Given the description of an element on the screen output the (x, y) to click on. 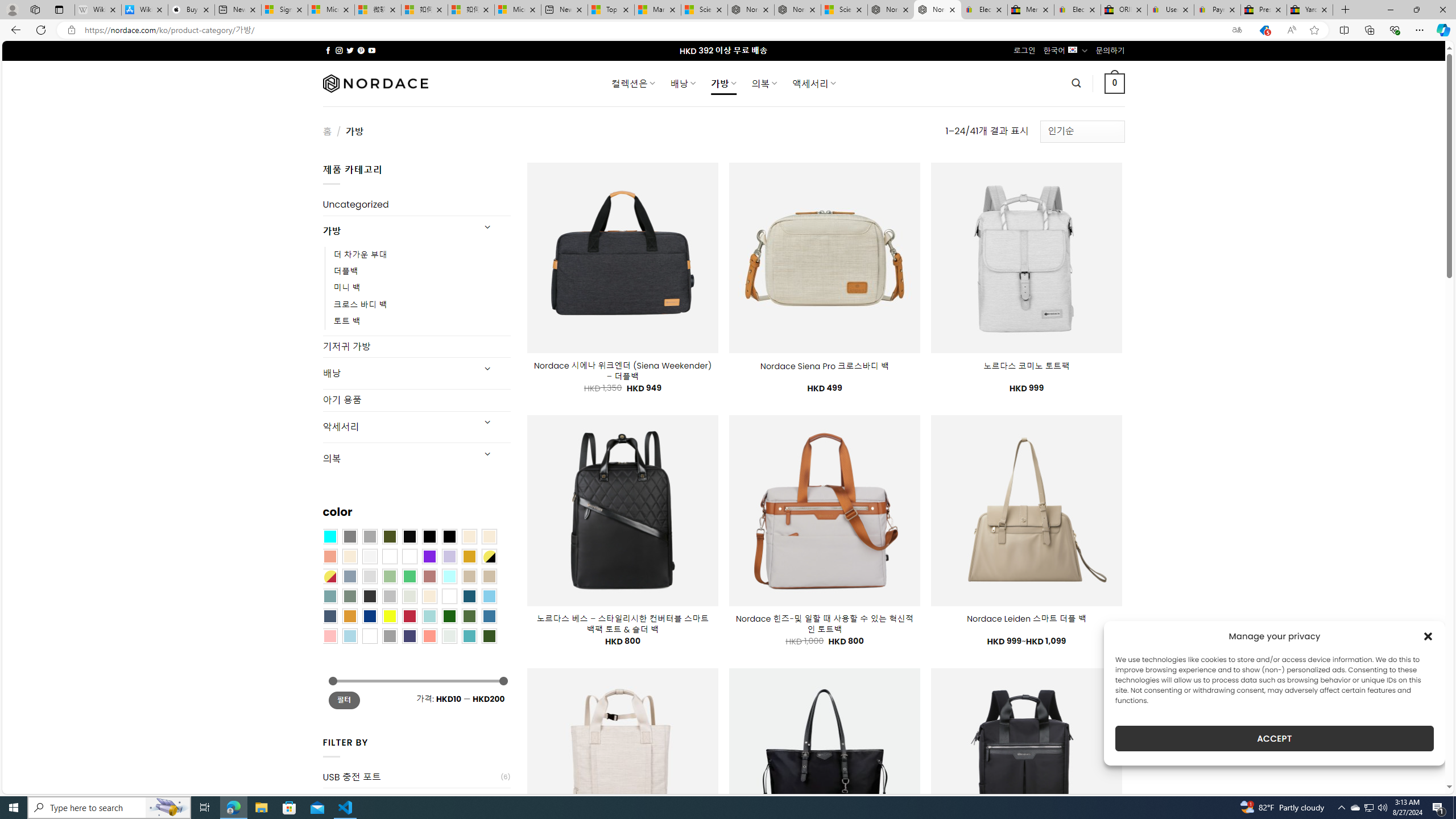
Follow on Pinterest (360, 50)
